Given the description of an element on the screen output the (x, y) to click on. 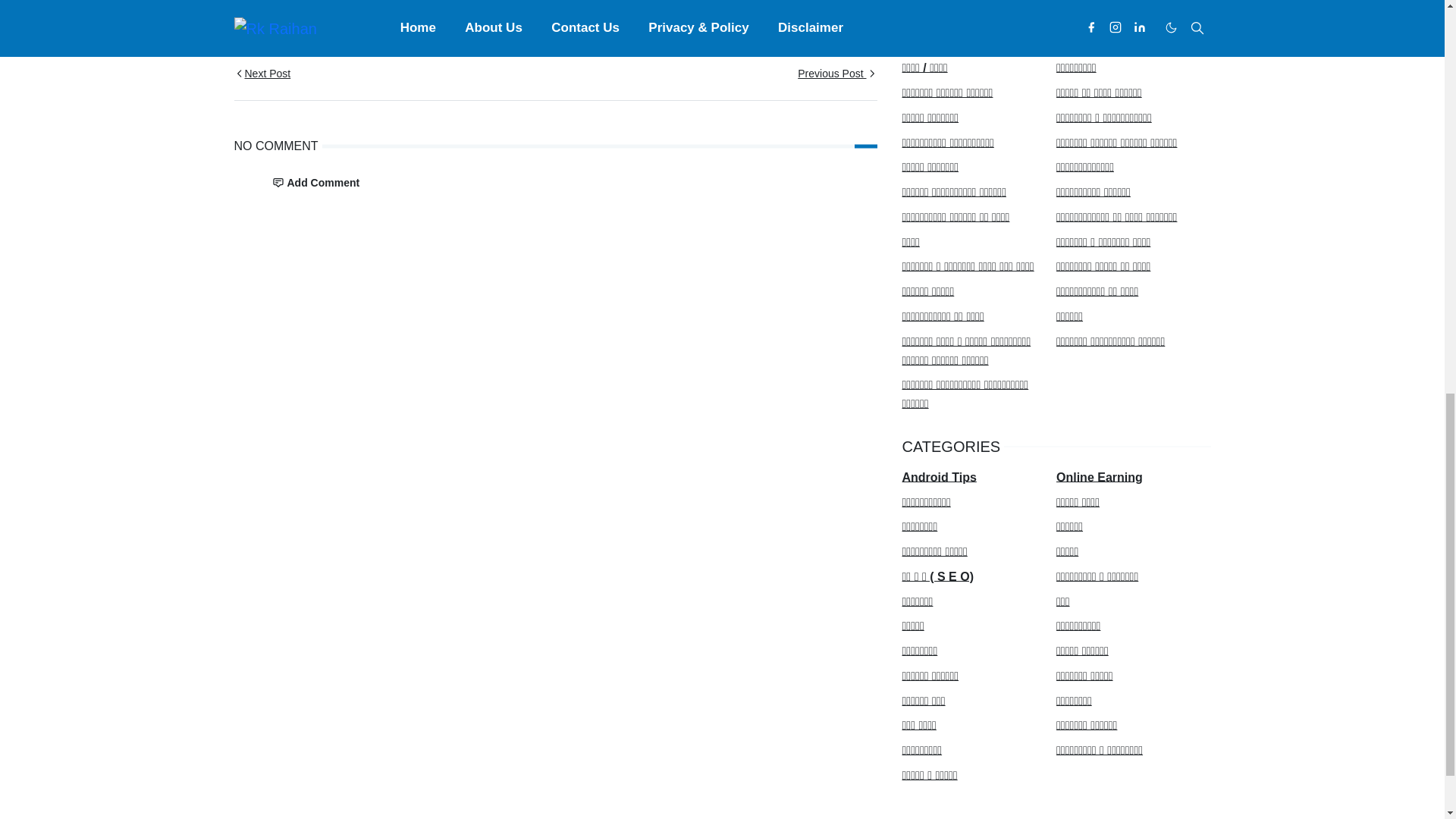
Previous Post (715, 76)
Add Comment (314, 183)
Next Post (393, 76)
